Given the description of an element on the screen output the (x, y) to click on. 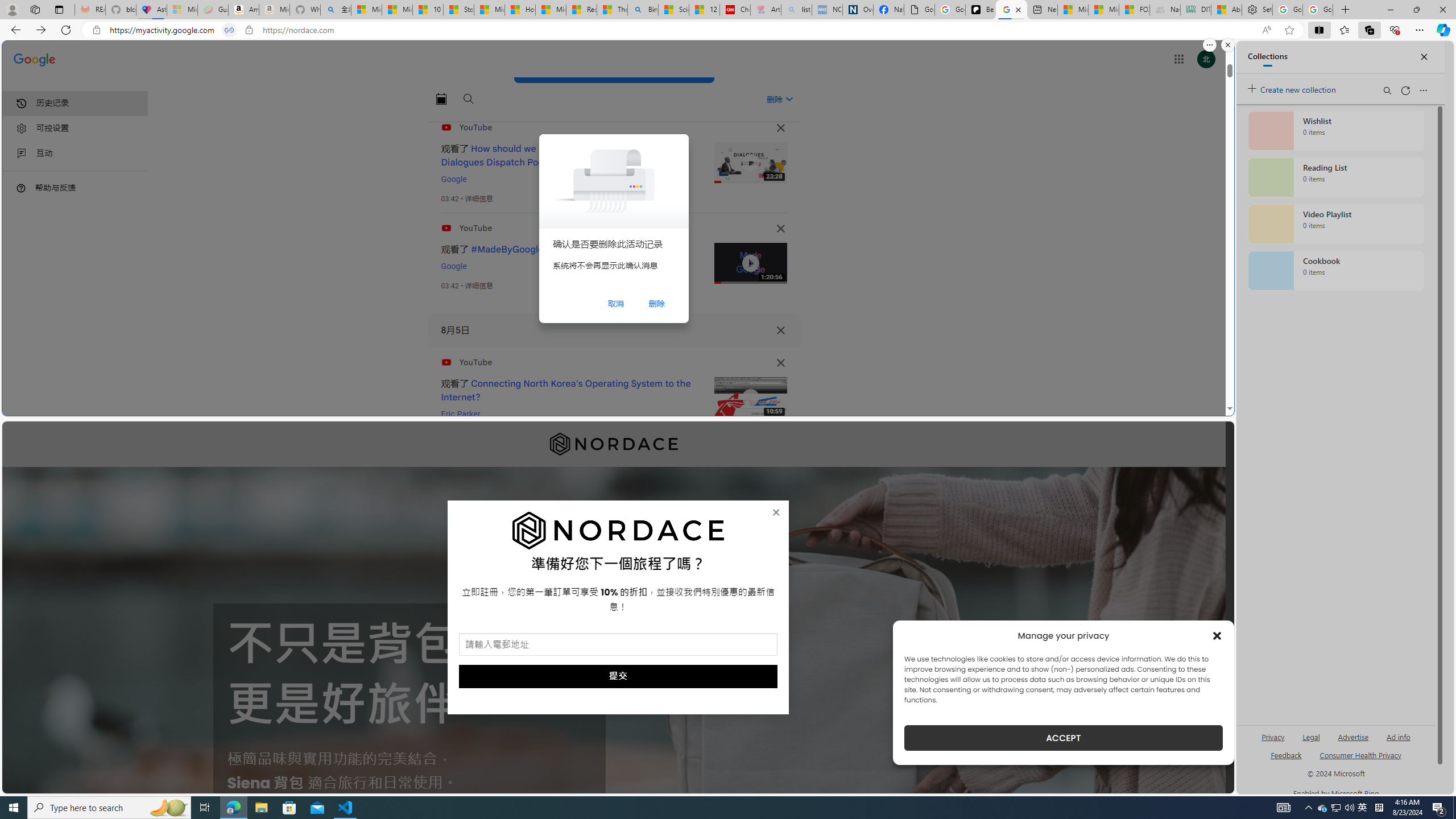
AutomationID: sb_feedback (1286, 754)
Bing (642, 9)
Class: DI7Mnf NMm5M (780, 330)
Aberdeen, Hong Kong SAR hourly forecast | Microsoft Weather (1226, 9)
